Given the description of an element on the screen output the (x, y) to click on. 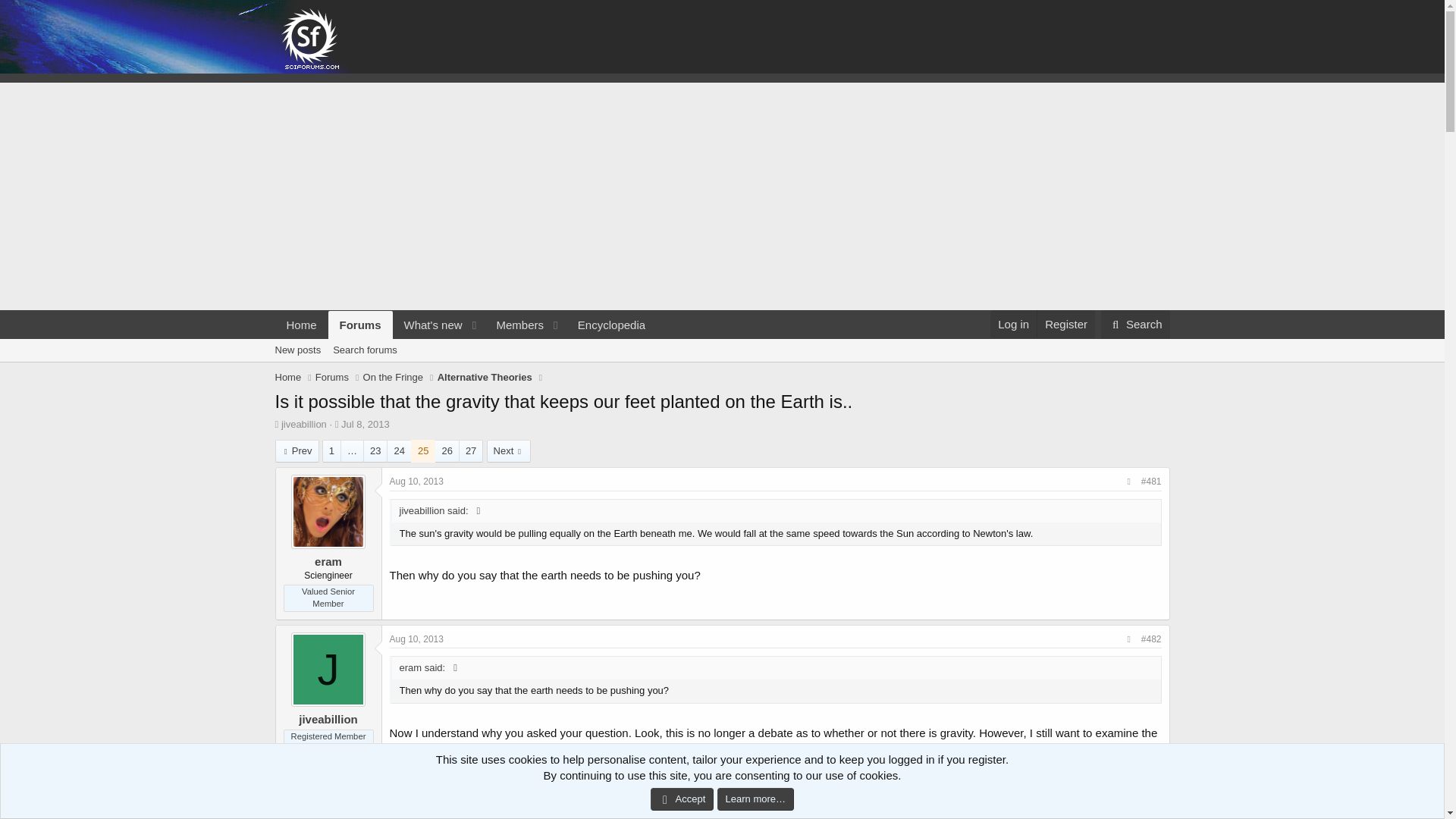
On the Fringe (392, 377)
Members (514, 325)
Prev (296, 450)
New posts (296, 350)
Home (301, 325)
Encyclopedia (720, 367)
Forums (611, 325)
Forums (464, 325)
Log in (332, 377)
Search (361, 325)
Aug 10, 2013 at 7:23 AM (1013, 324)
Home (1135, 324)
